Given the description of an element on the screen output the (x, y) to click on. 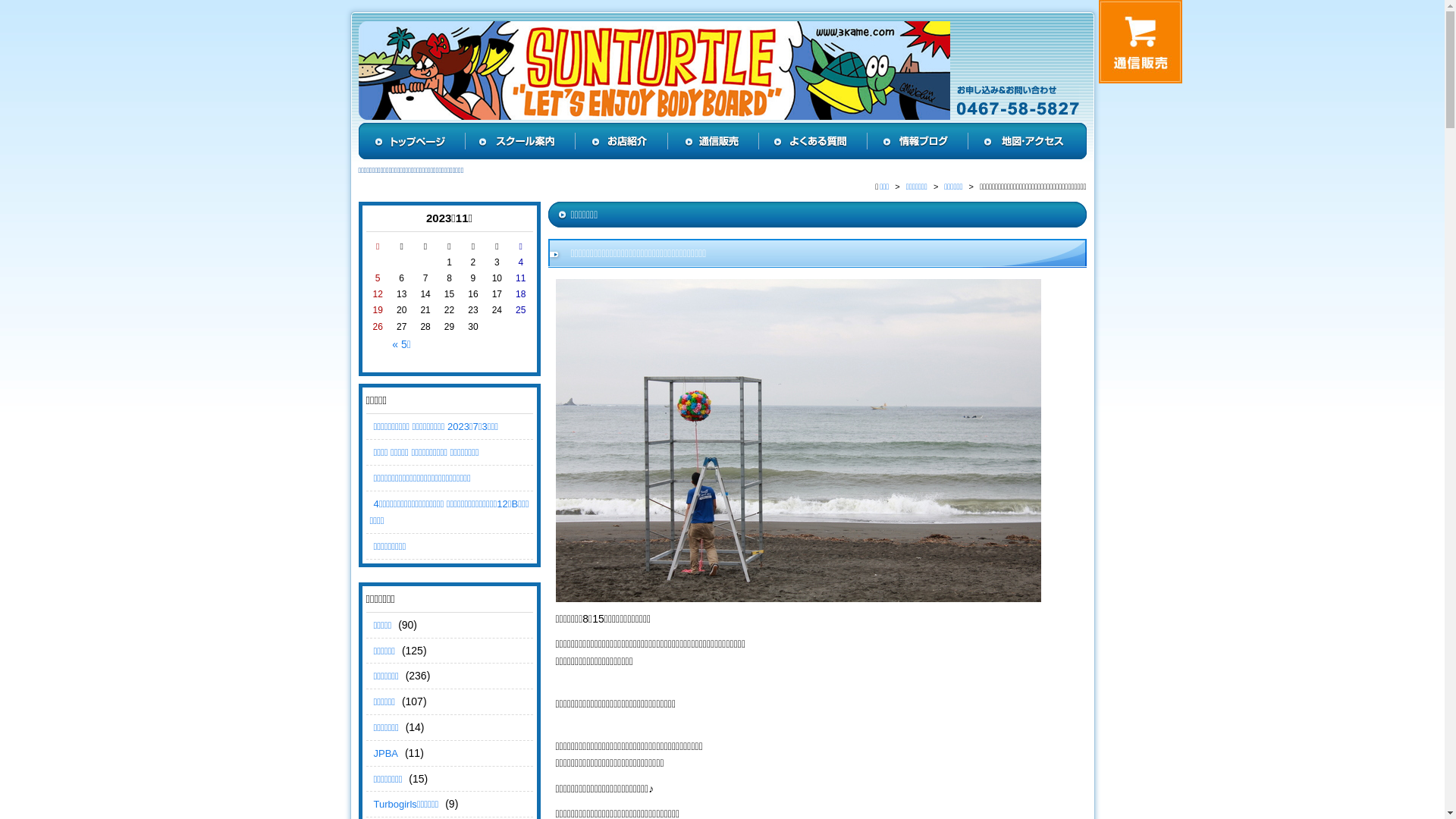
JPBA Element type: text (386, 752)
